Given the description of an element on the screen output the (x, y) to click on. 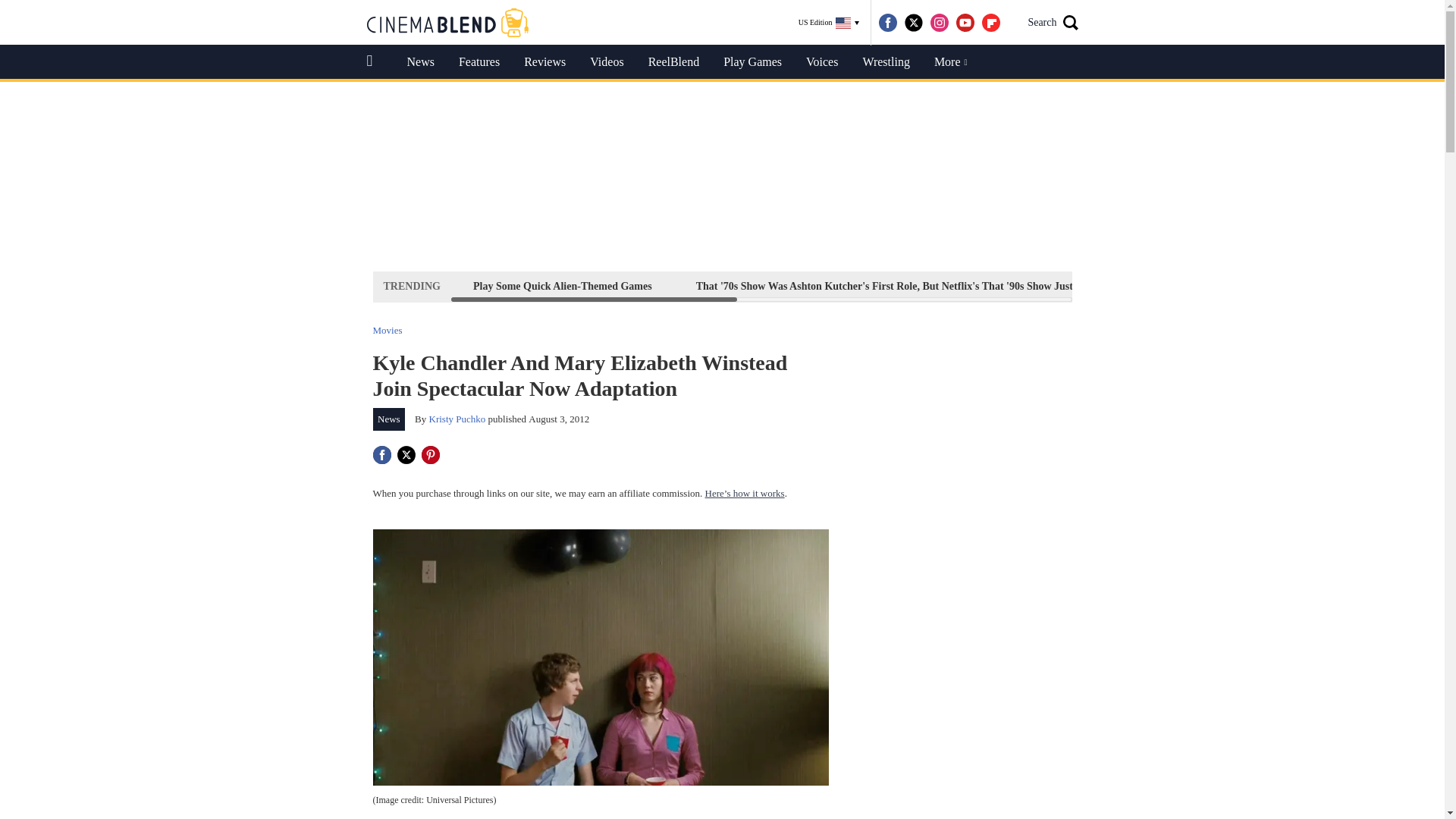
Play Games (752, 61)
News (419, 61)
Play Some Quick Alien-Themed Games (562, 286)
ReelBlend (673, 61)
Wrestling (885, 61)
Movies (387, 329)
Voices (821, 61)
Videos (606, 61)
US Edition (828, 22)
